Given the description of an element on the screen output the (x, y) to click on. 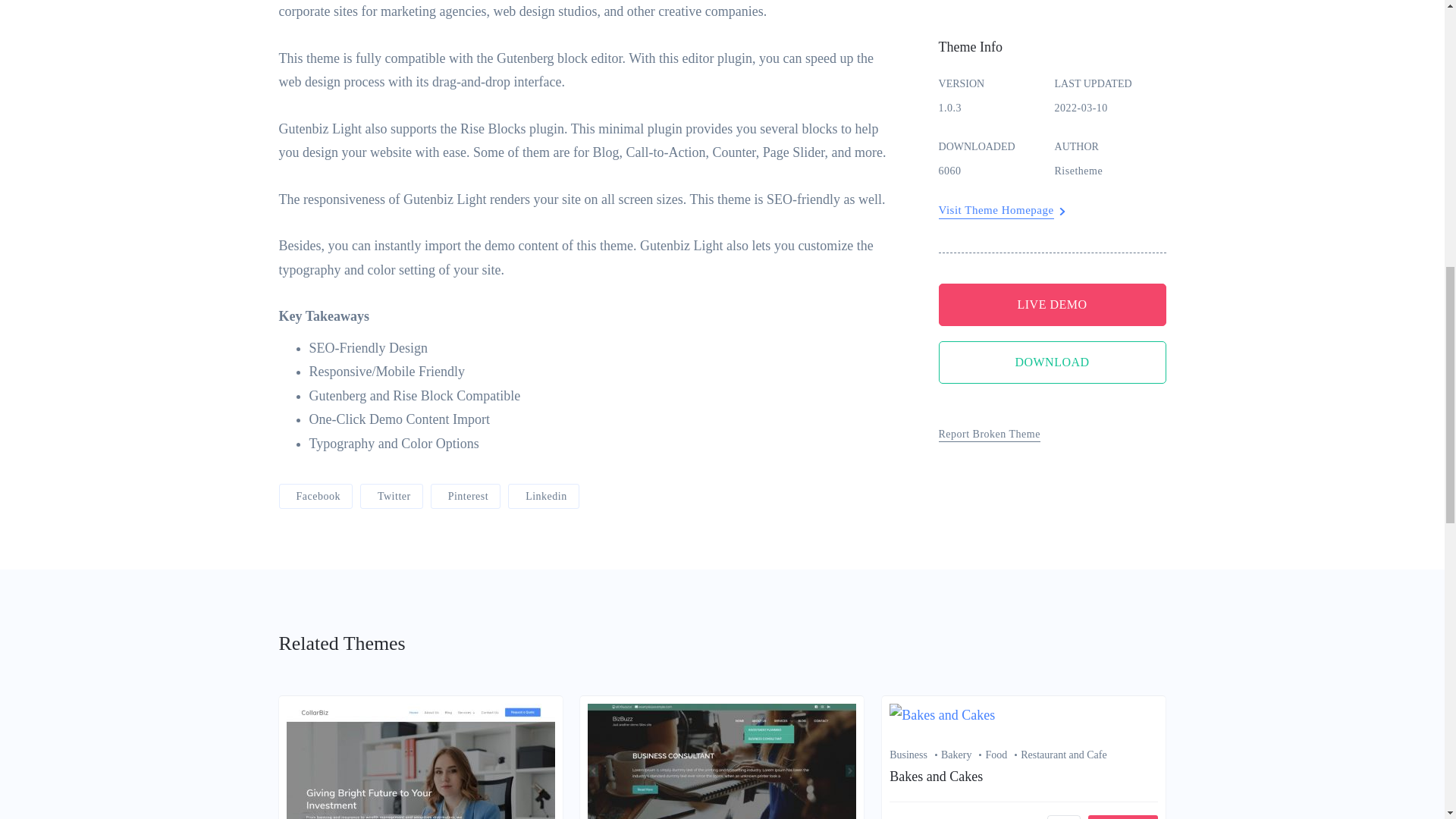
twitter (391, 496)
Food (1002, 754)
linkedin (543, 496)
pinterest (465, 496)
facebook (315, 496)
Business (914, 754)
Bakery (962, 754)
